Given the description of an element on the screen output the (x, y) to click on. 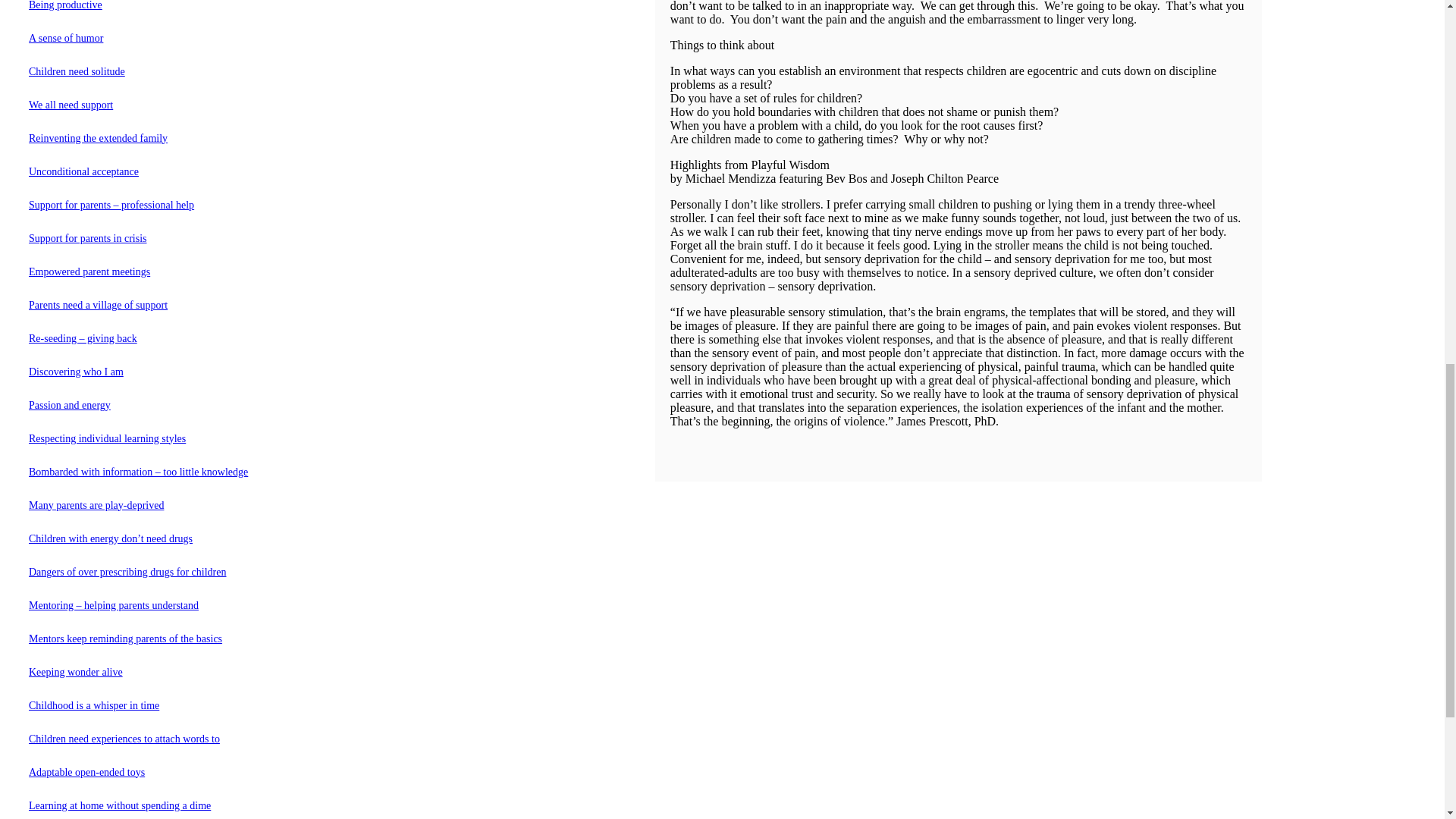
Children need solitude (77, 71)
We all need support (71, 104)
Unconditional acceptance (83, 172)
A sense of humor (66, 38)
Being productive (65, 5)
Reinventing the extended family (98, 138)
